Given the description of an element on the screen output the (x, y) to click on. 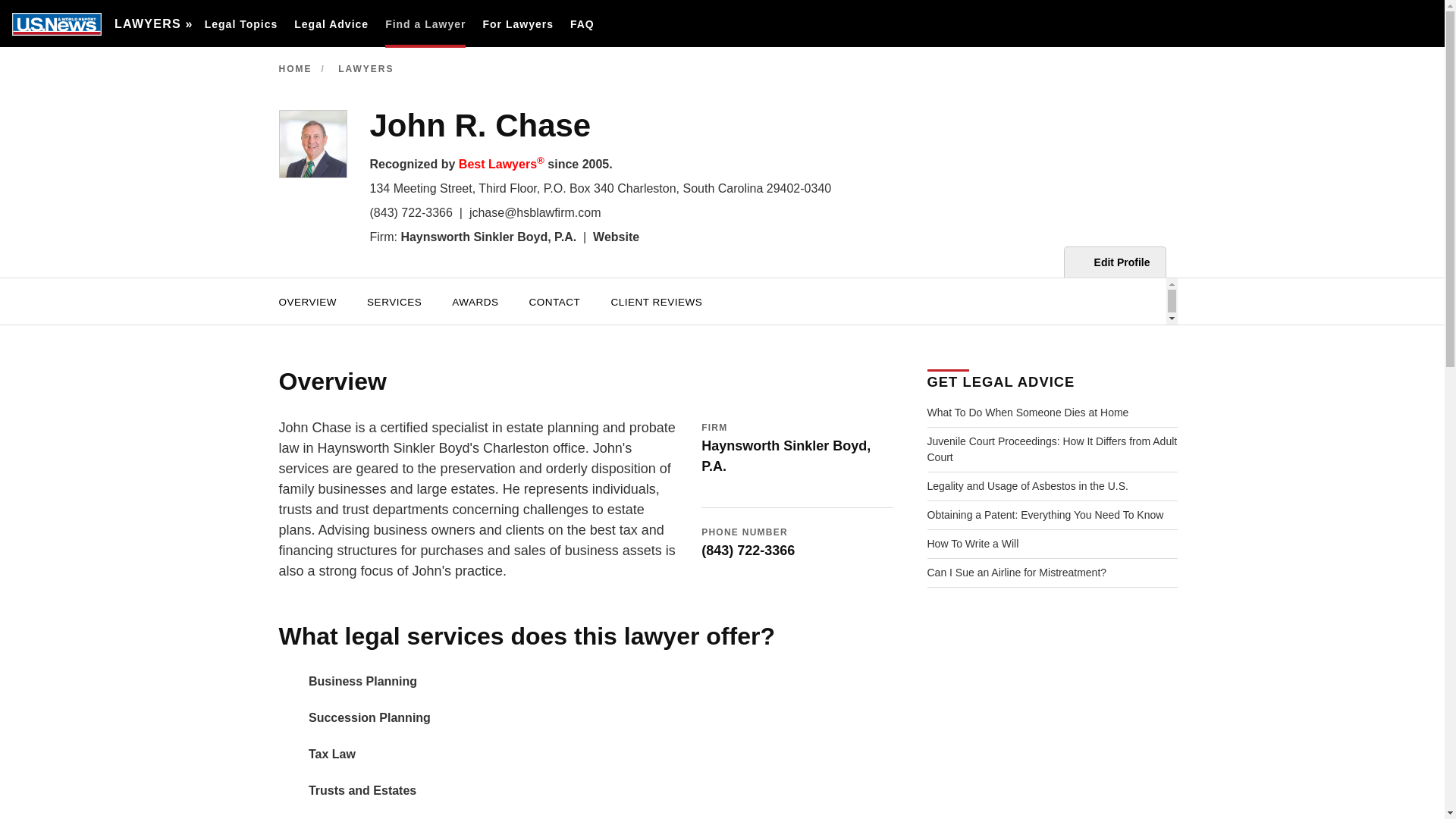
Legal Topics (241, 23)
Find a Lawyer (425, 23)
Legal Advice (331, 23)
For Lawyers (517, 23)
U.S. News (56, 24)
John R. Chase's Profile Image (313, 143)
